Given the description of an element on the screen output the (x, y) to click on. 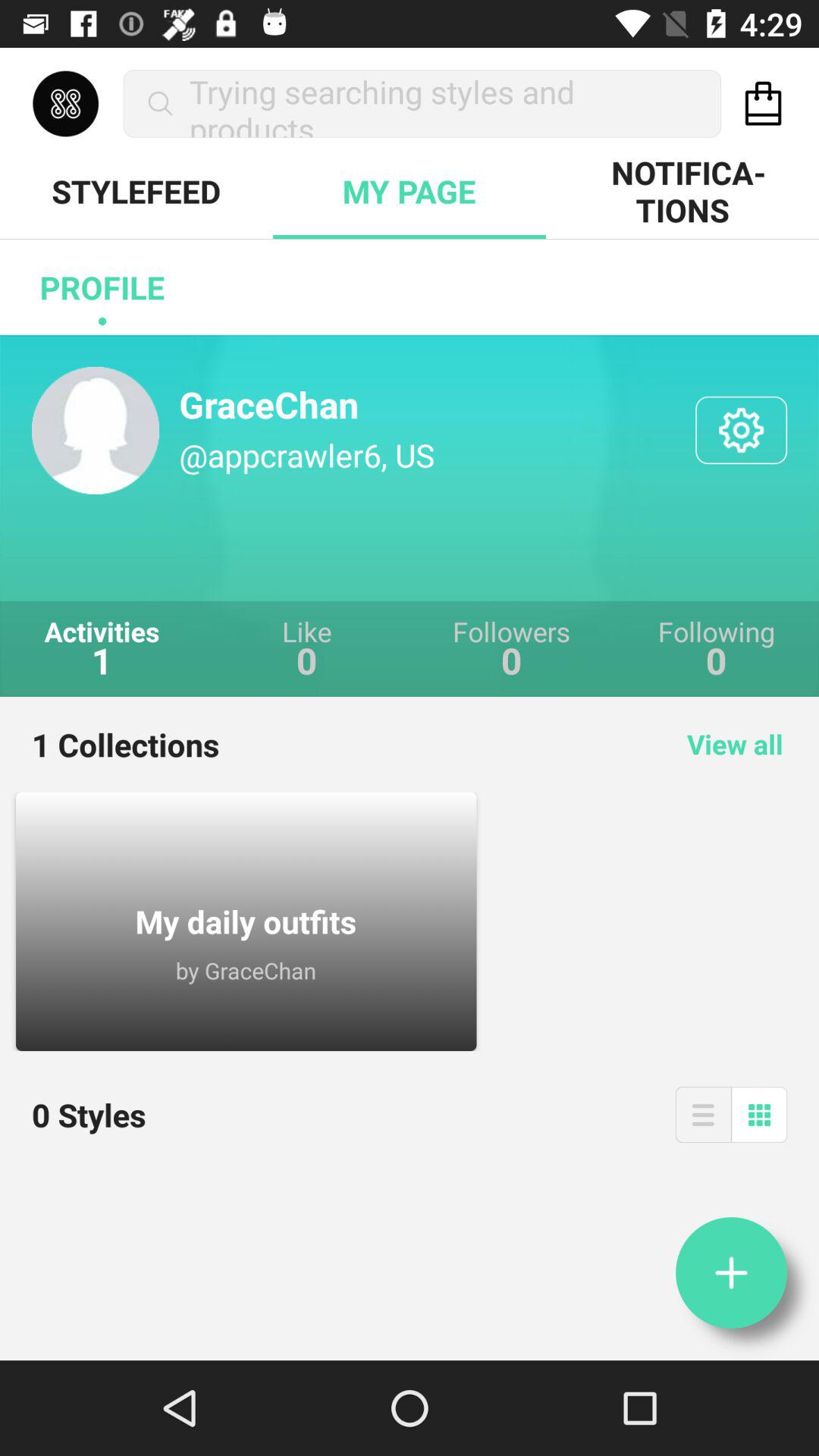
tap for more information (731, 1272)
